Given the description of an element on the screen output the (x, y) to click on. 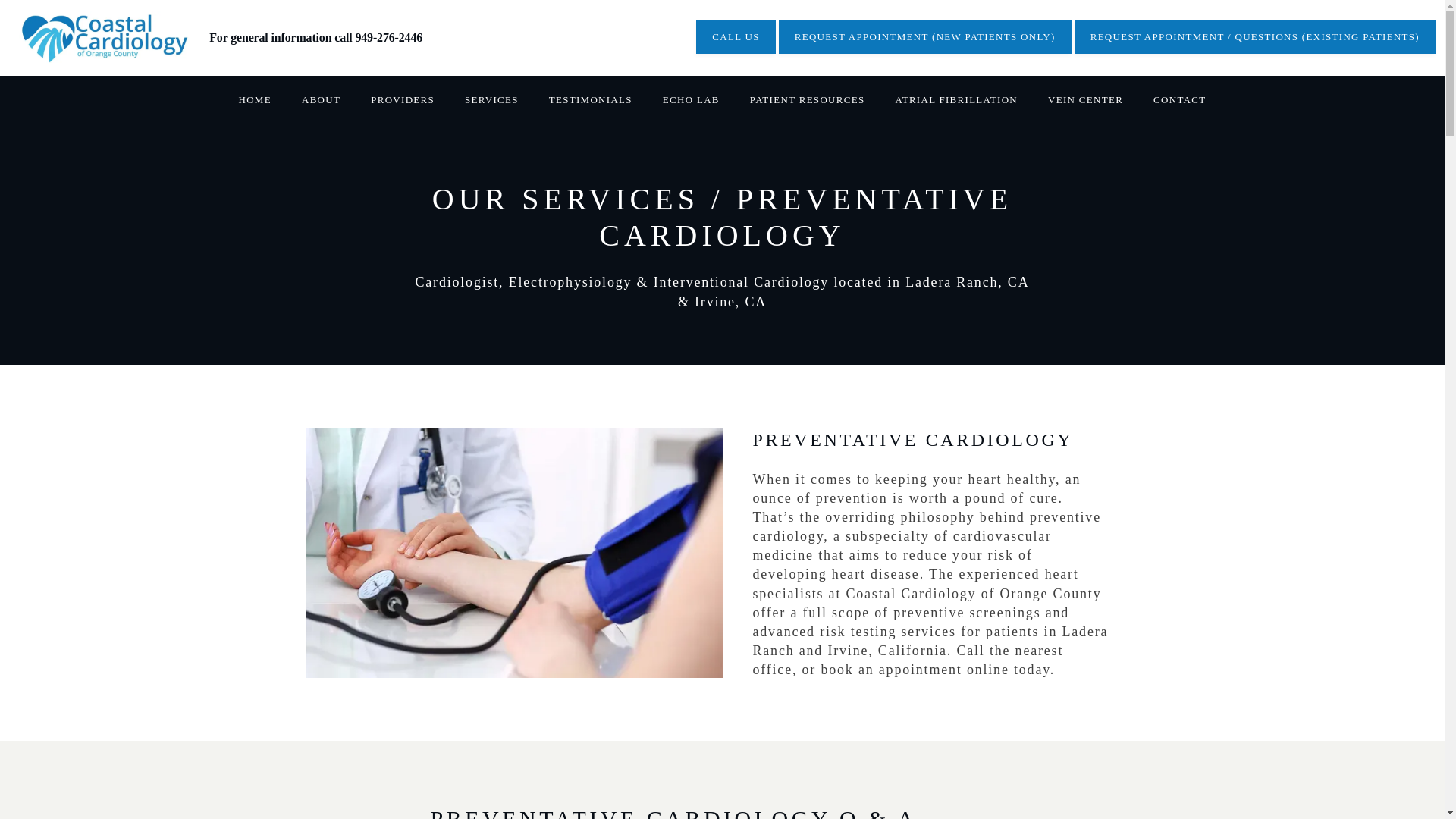
CONTACT (1179, 99)
ECHO LAB (690, 99)
SERVICES (491, 99)
ATRIAL FIBRILLATION (956, 99)
PATIENT RESOURCES (806, 99)
PROVIDERS (402, 99)
HOME (254, 99)
VEIN CENTER (1085, 99)
ABOUT (320, 99)
CALL US (735, 37)
TESTIMONIALS (589, 99)
